Given the description of an element on the screen output the (x, y) to click on. 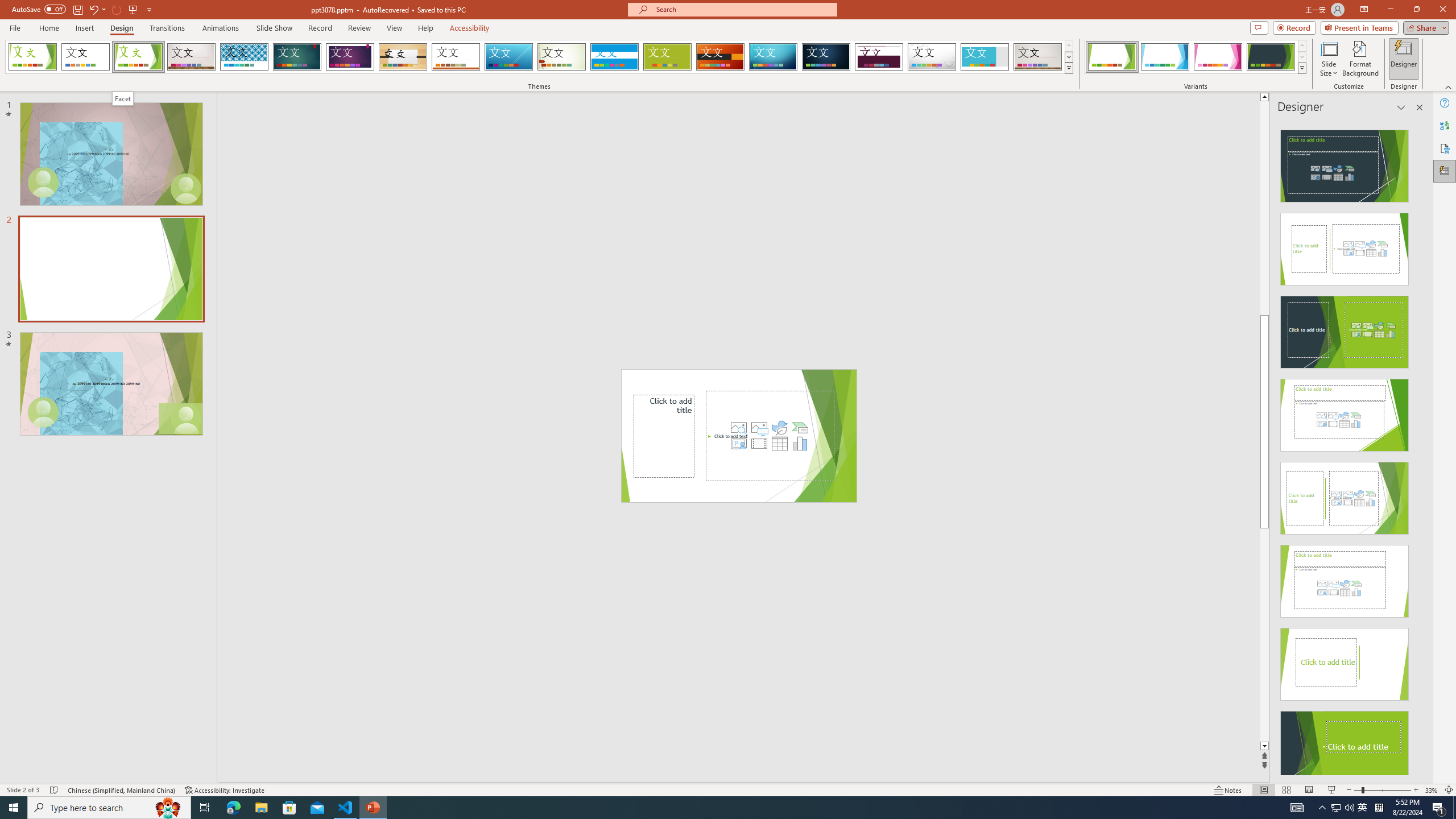
Ion Boardroom (350, 56)
Facet (138, 56)
Organic (403, 56)
Facet Variant 2 (1164, 56)
